Given the description of an element on the screen output the (x, y) to click on. 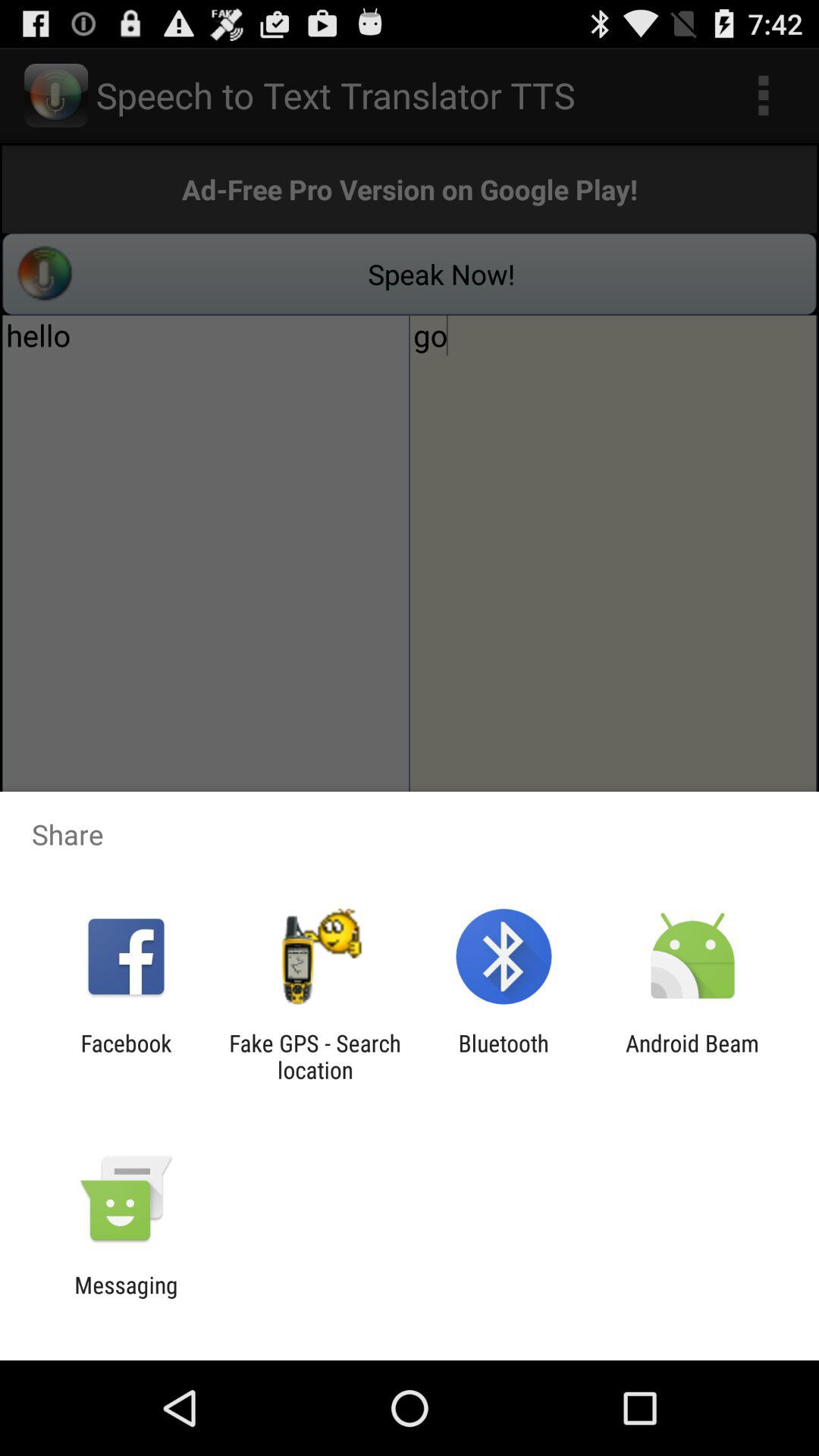
launch the item to the left of bluetooth item (314, 1056)
